Given the description of an element on the screen output the (x, y) to click on. 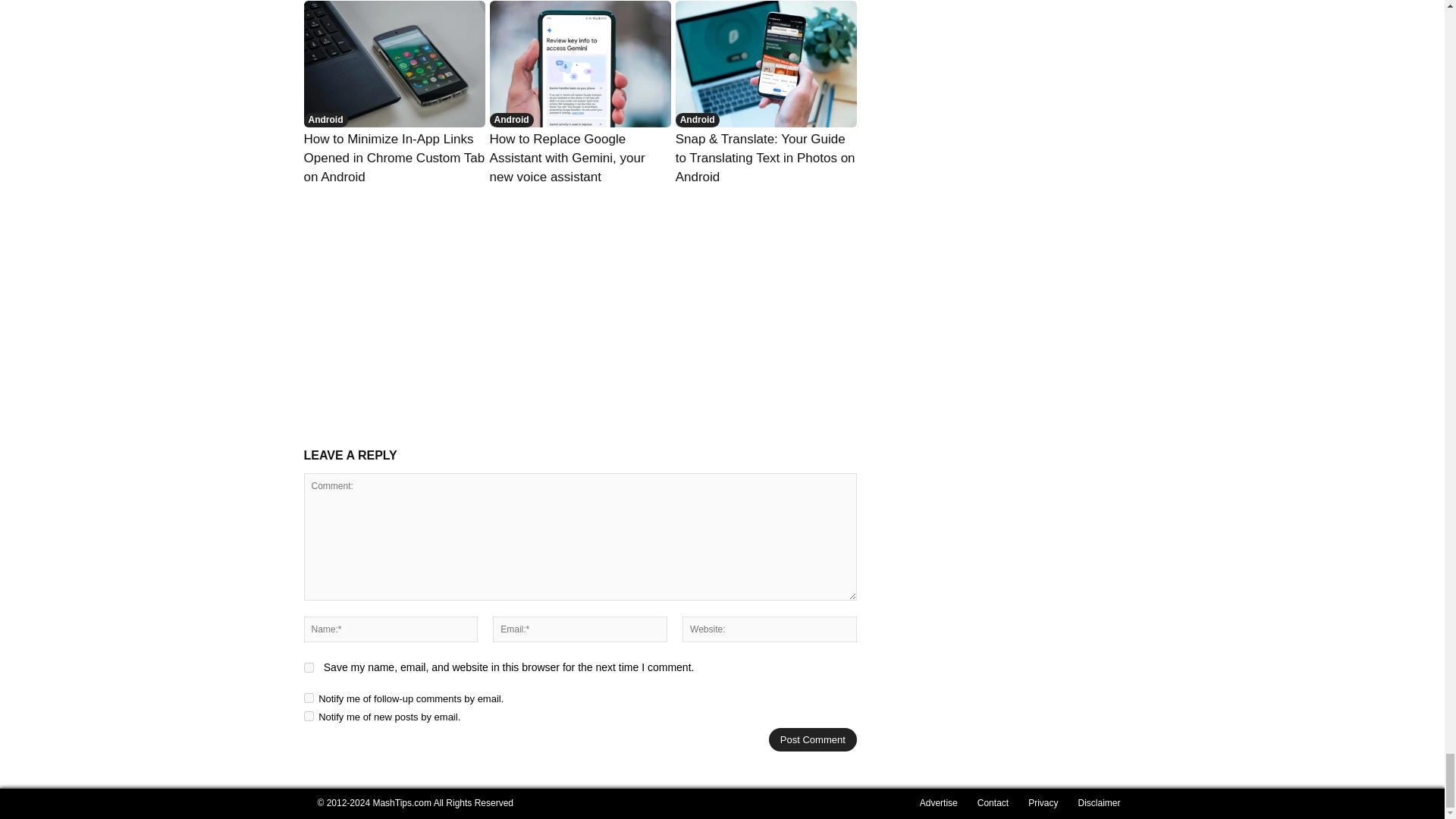
yes (307, 667)
Post Comment (812, 739)
subscribe (307, 716)
subscribe (307, 697)
